Given the description of an element on the screen output the (x, y) to click on. 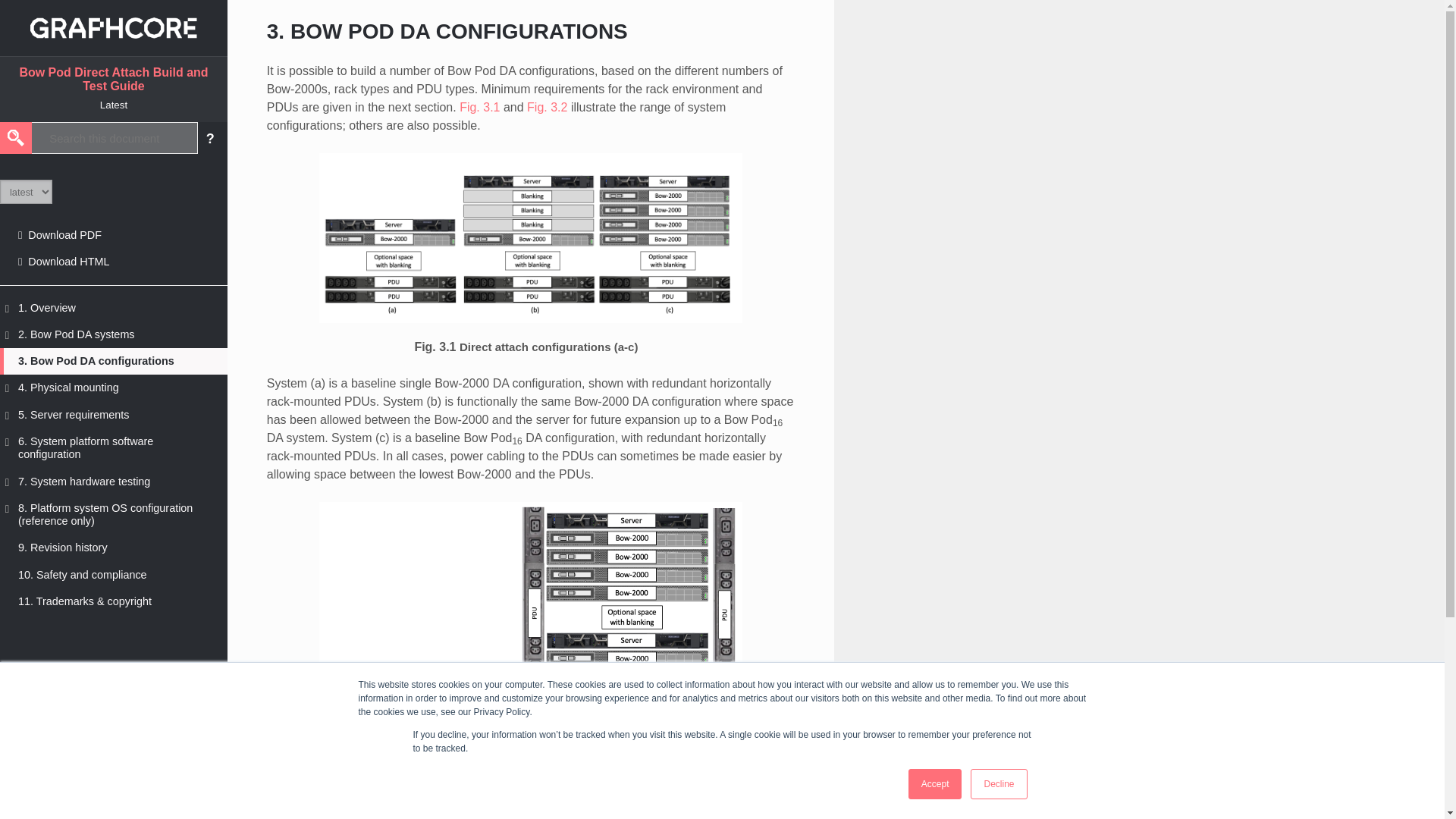
1. Overview (113, 307)
  Download PDF (113, 234)
Accept (935, 784)
Download PDF (113, 234)
3. Bow Pod DA configurations (113, 361)
Download HTML archive (113, 261)
4. Physical mounting (113, 387)
  Download HTML (113, 261)
Bow Pod Direct Attach Build and Test Guide (113, 79)
Search help (210, 137)
Decline (998, 784)
? (210, 137)
2. Bow Pod DA systems (113, 334)
